Given the description of an element on the screen output the (x, y) to click on. 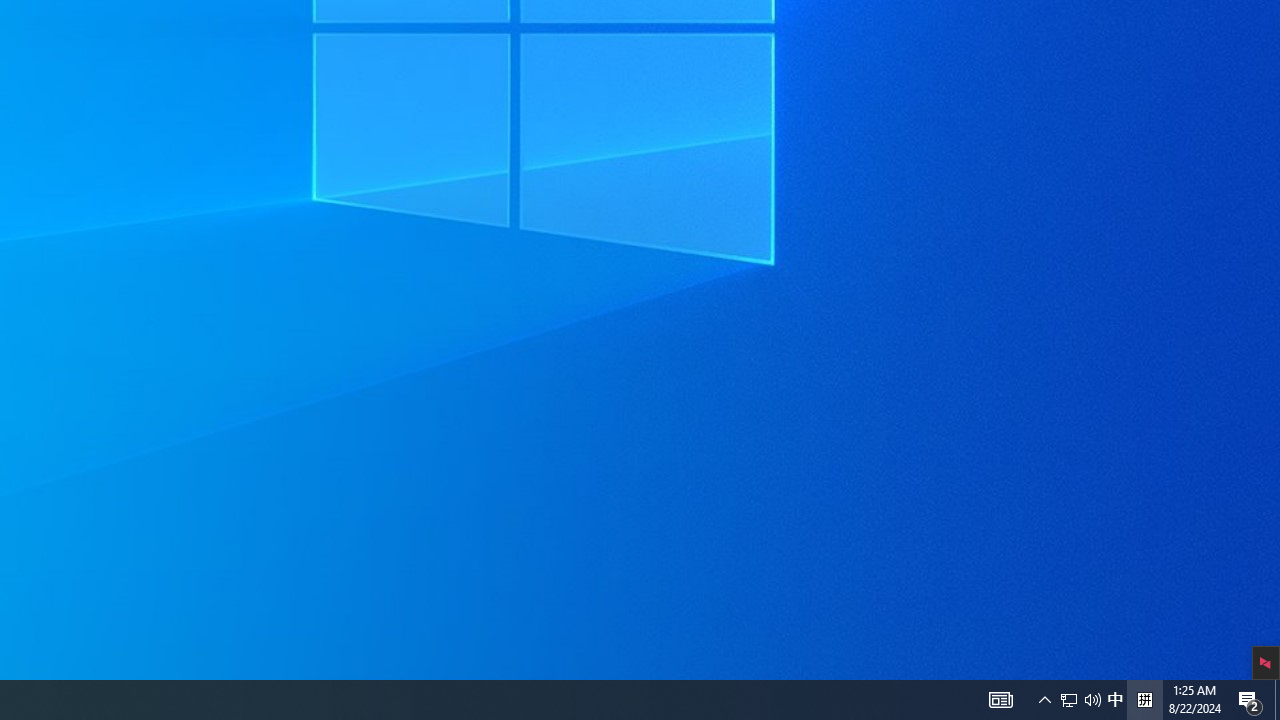
User Promoted Notification Area (1080, 699)
Show desktop (1277, 699)
Notification Chevron (1069, 699)
AutomationID: 4105 (1044, 699)
Tray Input Indicator - Chinese (Simplified, China) (1000, 699)
Q2790: 100% (1144, 699)
Action Center, 2 new notifications (1092, 699)
